Given the description of an element on the screen output the (x, y) to click on. 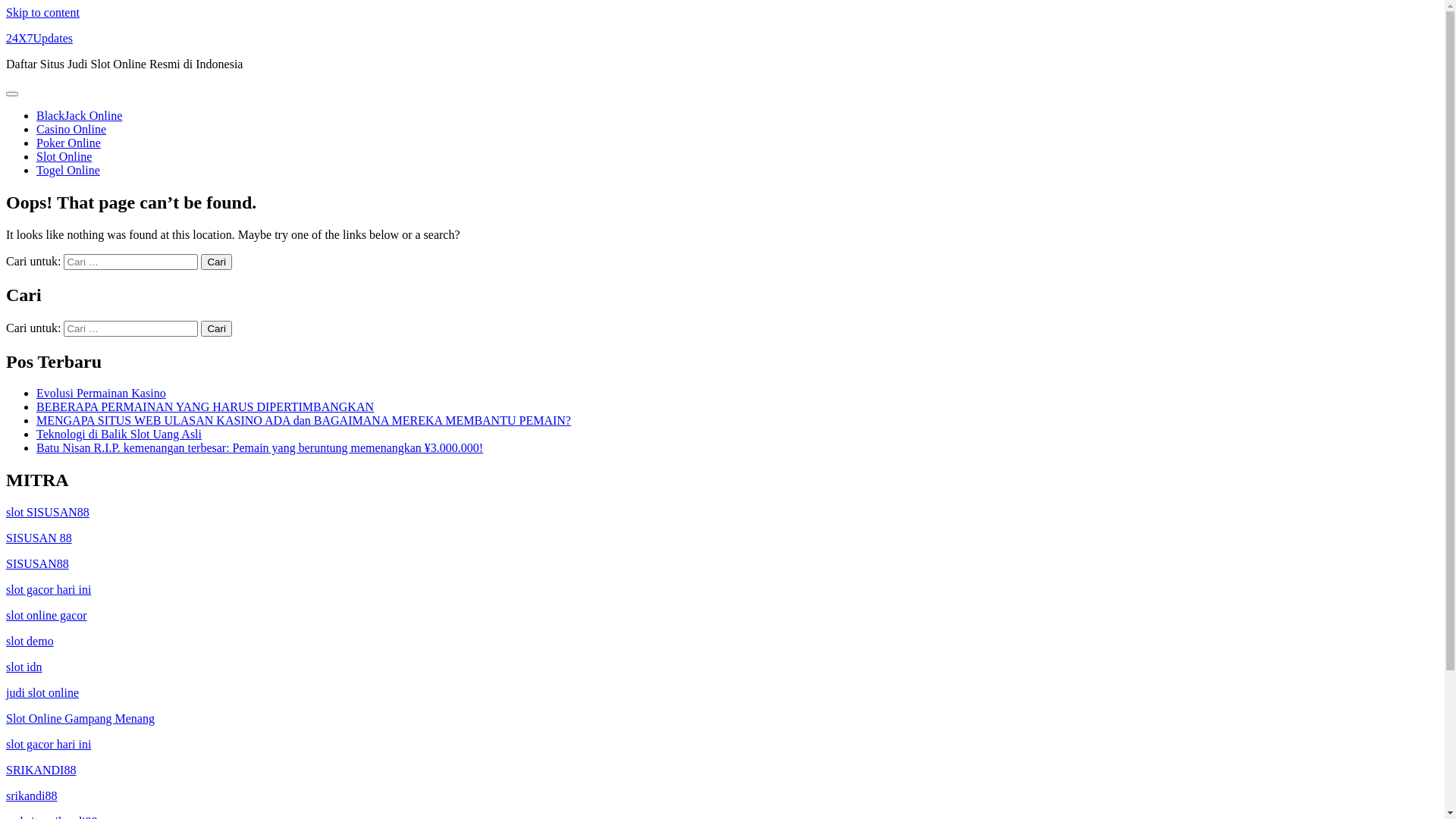
Casino Online Element type: text (71, 128)
Slot Online Gampang Menang Element type: text (80, 718)
SRIKANDI88 Element type: text (40, 769)
slot idn Element type: text (24, 666)
Slot Online Element type: text (63, 156)
slot online gacor Element type: text (46, 614)
Evolusi Permainan Kasino Element type: text (101, 392)
slot demo Element type: text (29, 640)
SISUSAN 88 Element type: text (39, 537)
Cari Element type: text (215, 261)
Togel Online Element type: text (68, 169)
srikandi88 Element type: text (31, 795)
Cari Element type: text (215, 328)
24X7Updates Element type: text (39, 37)
judi slot online Element type: text (42, 692)
Poker Online Element type: text (68, 142)
slot gacor hari ini Element type: text (48, 743)
Teknologi di Balik Slot Uang Asli Element type: text (118, 433)
Skip to content Element type: text (42, 12)
slot SISUSAN88 Element type: text (47, 511)
BEBERAPA PERMAINAN YANG HARUS DIPERTIMBANGKAN Element type: text (204, 406)
slot gacor hari ini Element type: text (48, 589)
SISUSAN88 Element type: text (37, 563)
BlackJack Online Element type: text (79, 115)
